Given the description of an element on the screen output the (x, y) to click on. 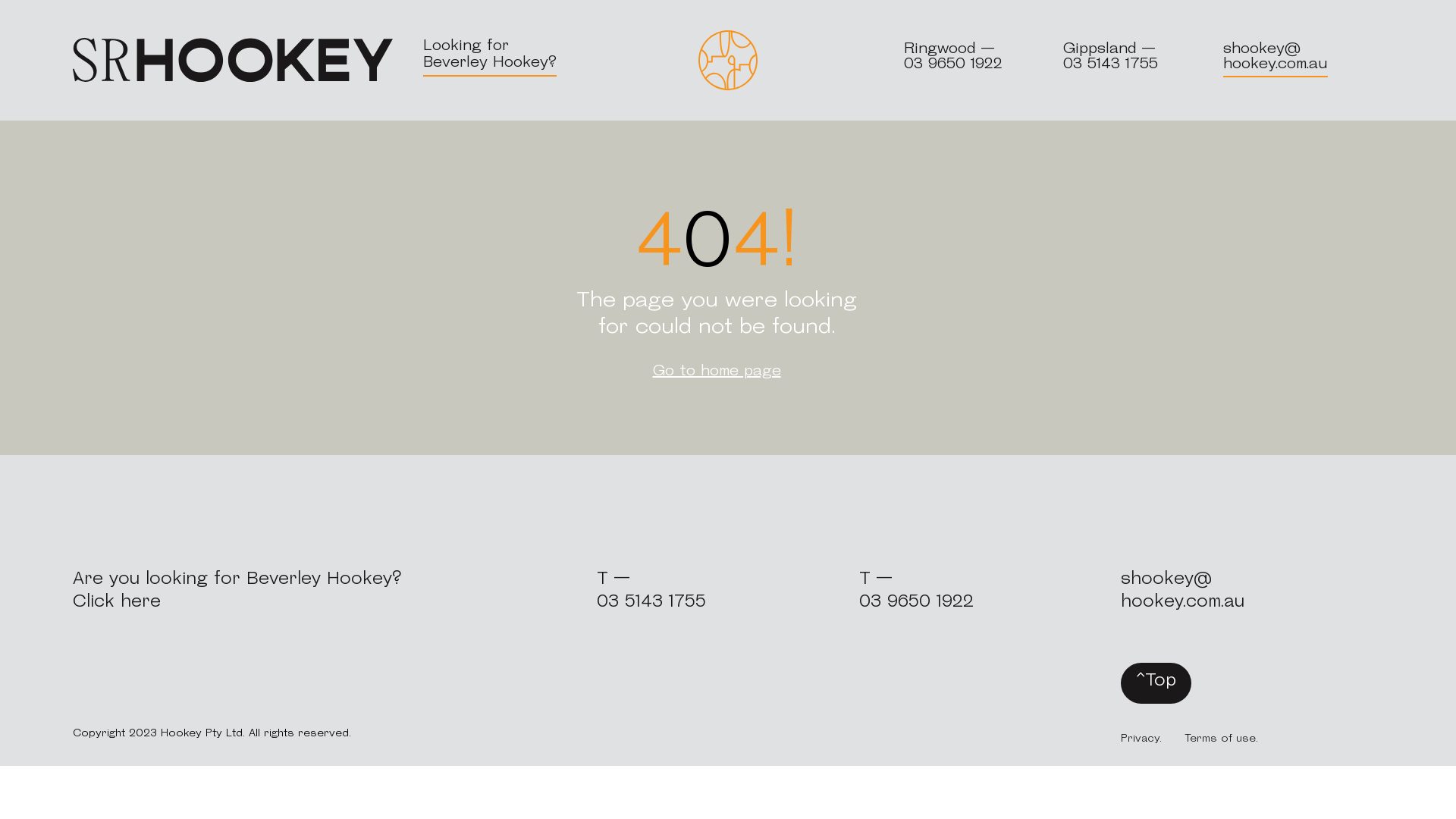
03 9650 1922 Element type: text (952, 64)
Go to home page Element type: text (716, 371)
03 5143 1755 Element type: text (1110, 64)
03 9650 1922 Element type: text (916, 602)
03 5143 1755 Element type: text (651, 602)
shookey@
hookey.com.au Element type: text (1275, 56)
Beverley Hookey? Element type: text (489, 62)
shookey@
hookey.com.au Element type: text (1182, 591)
here Element type: text (140, 602)
Terms of use. Element type: text (1221, 738)
Privacy. Element type: text (1140, 738)
